Given the description of an element on the screen output the (x, y) to click on. 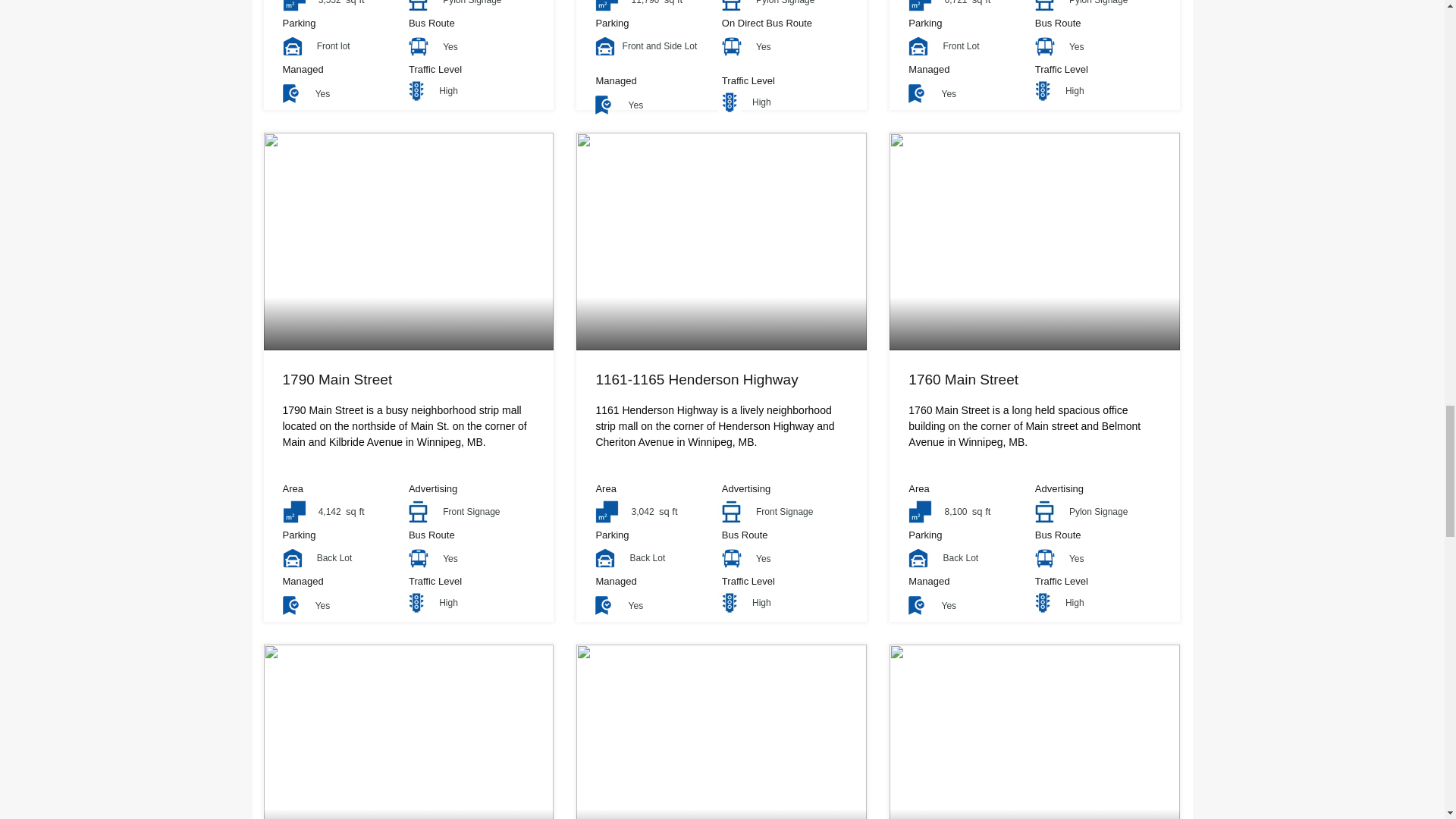
1161-1165 Henderson Highway (696, 379)
1760 Main Street (962, 379)
1790 Main Street (336, 379)
